Given the description of an element on the screen output the (x, y) to click on. 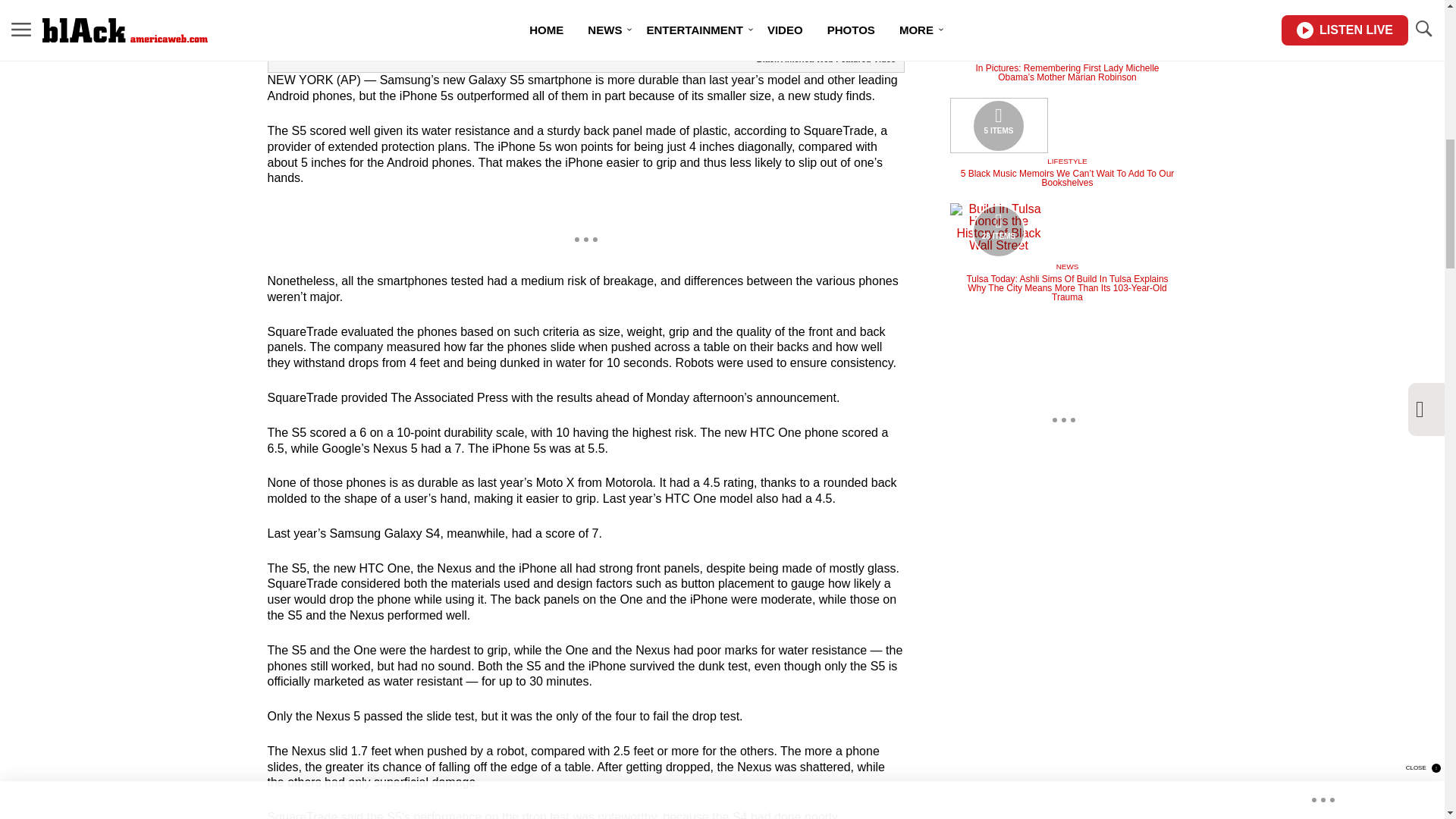
Media Playlist (998, 124)
Media Playlist (998, 23)
Media Playlist (998, 230)
